Given the description of an element on the screen output the (x, y) to click on. 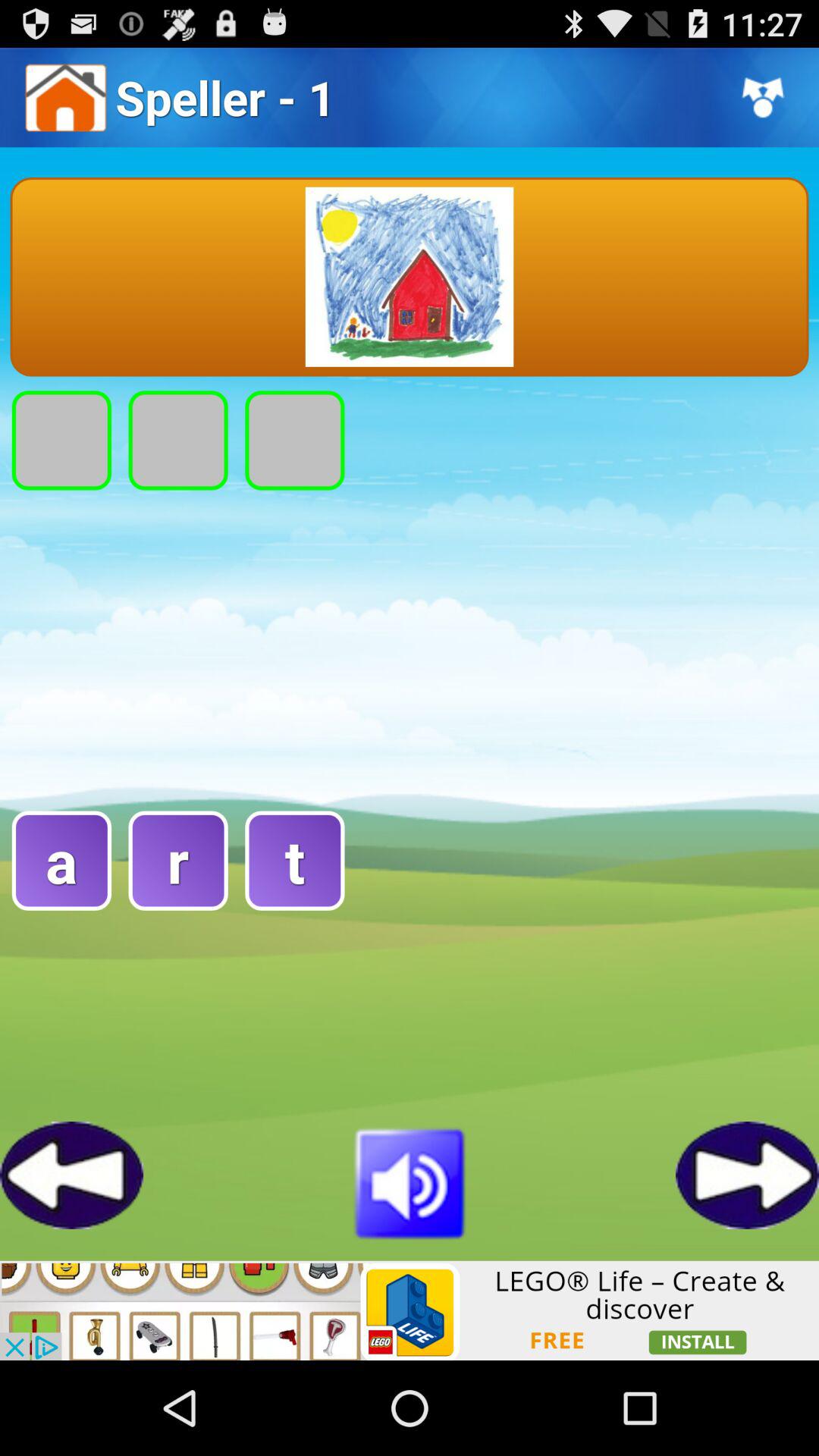
advertisement (409, 1310)
